Given the description of an element on the screen output the (x, y) to click on. 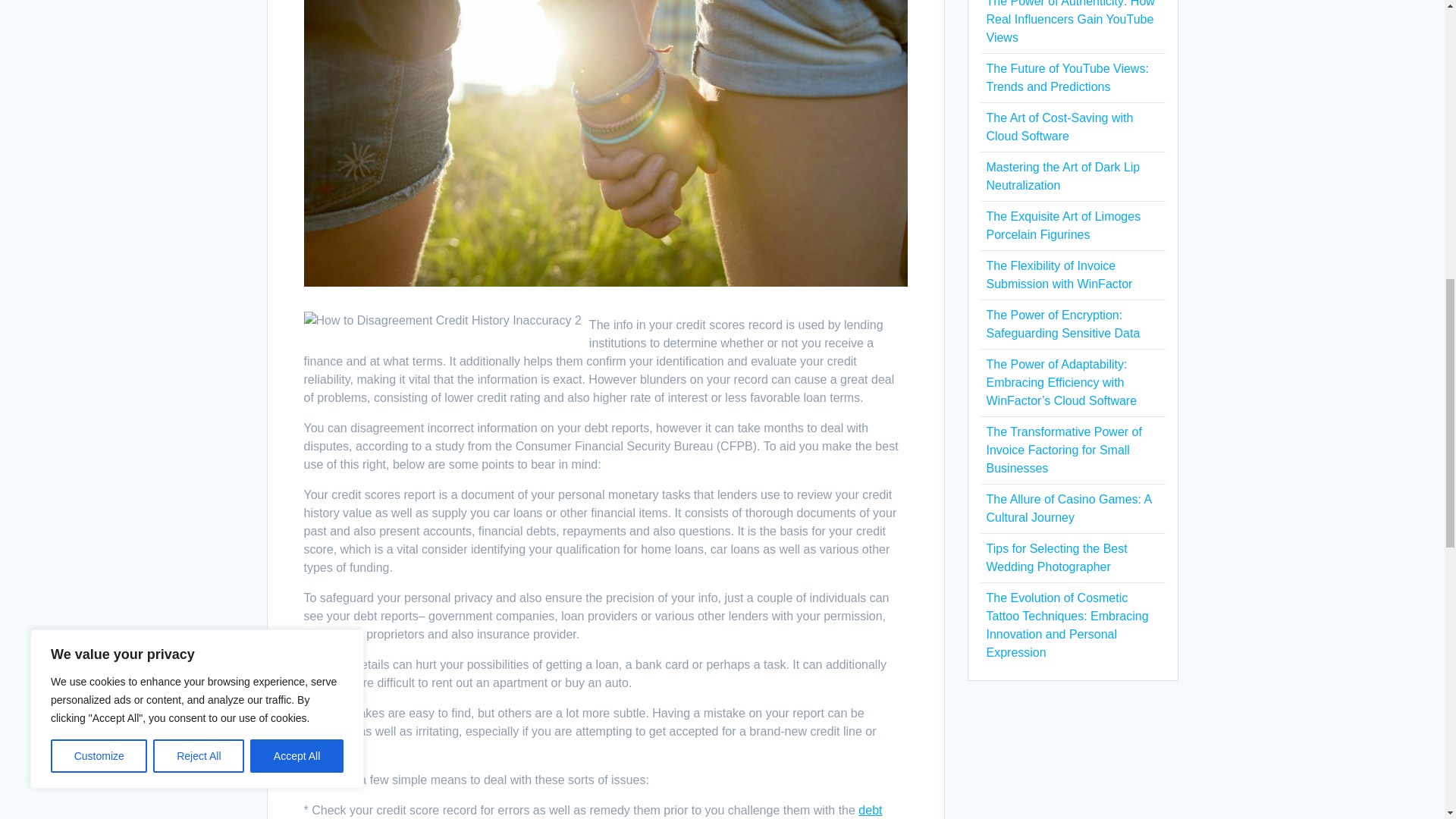
The Art of Cost-Saving with Cloud Software (1058, 126)
The Future of YouTube Views: Trends and Predictions (1066, 77)
debt bureaus (592, 811)
The Exquisite Art of Limoges Porcelain Figurines (1062, 224)
Mastering the Art of Dark Lip Neutralization (1062, 175)
